Given the description of an element on the screen output the (x, y) to click on. 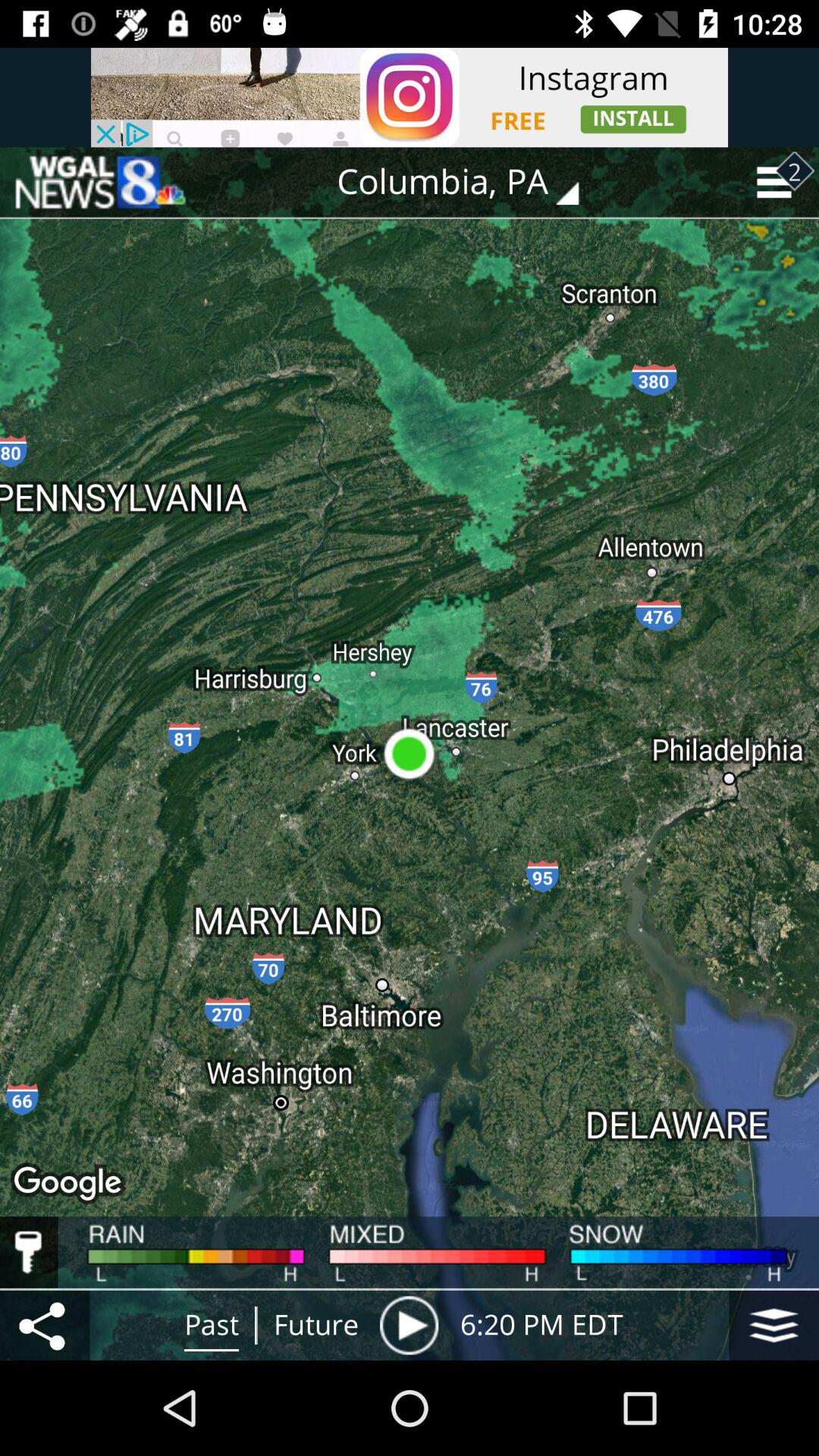
choose the icon next to columbia, pa (99, 182)
